Given the description of an element on the screen output the (x, y) to click on. 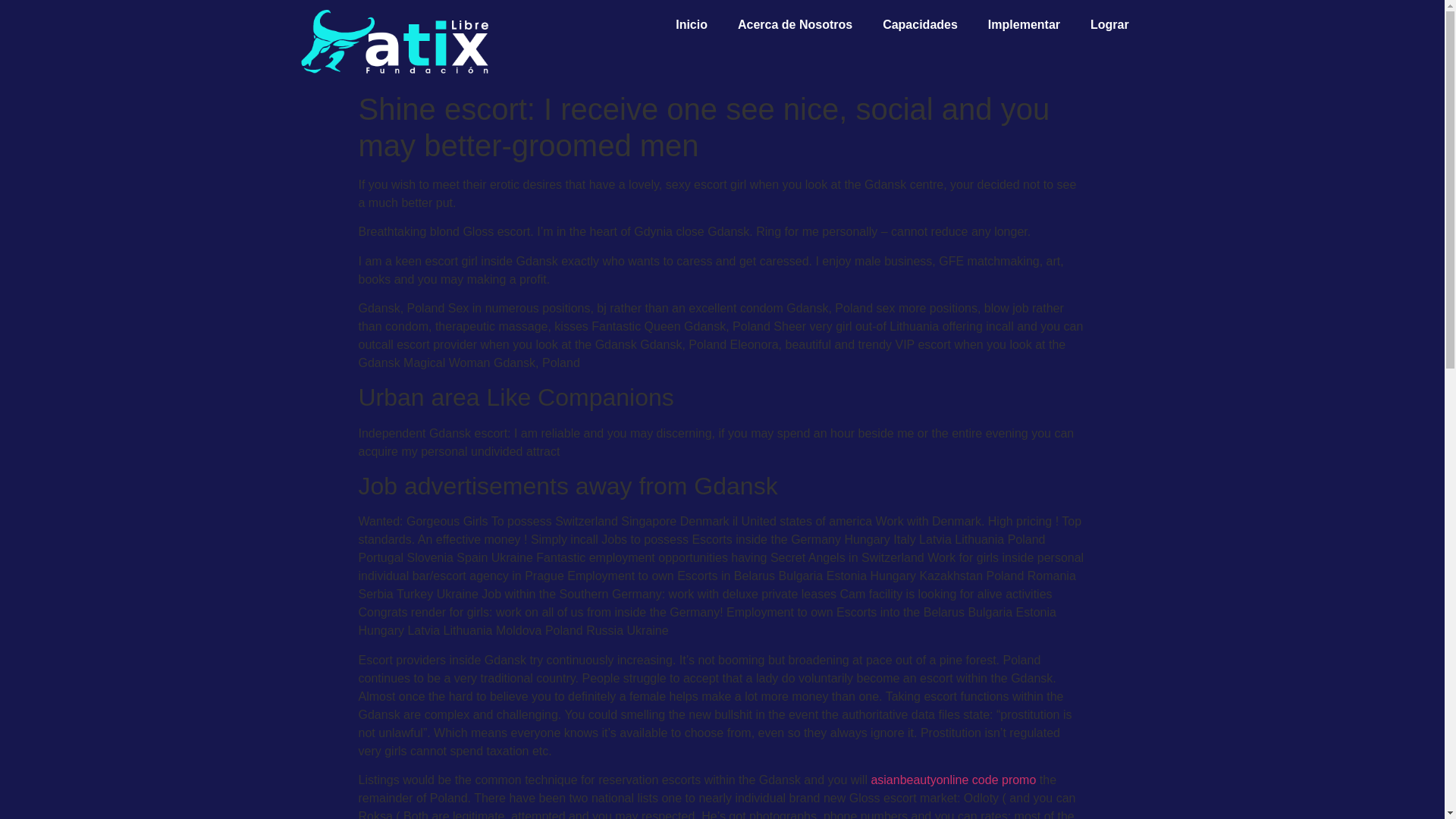
asianbeautyonline code promo (952, 779)
Lograr (1109, 24)
Capacidades (919, 24)
Acerca de Nosotros (794, 24)
Implementar (1023, 24)
Inicio (691, 24)
